Given the description of an element on the screen output the (x, y) to click on. 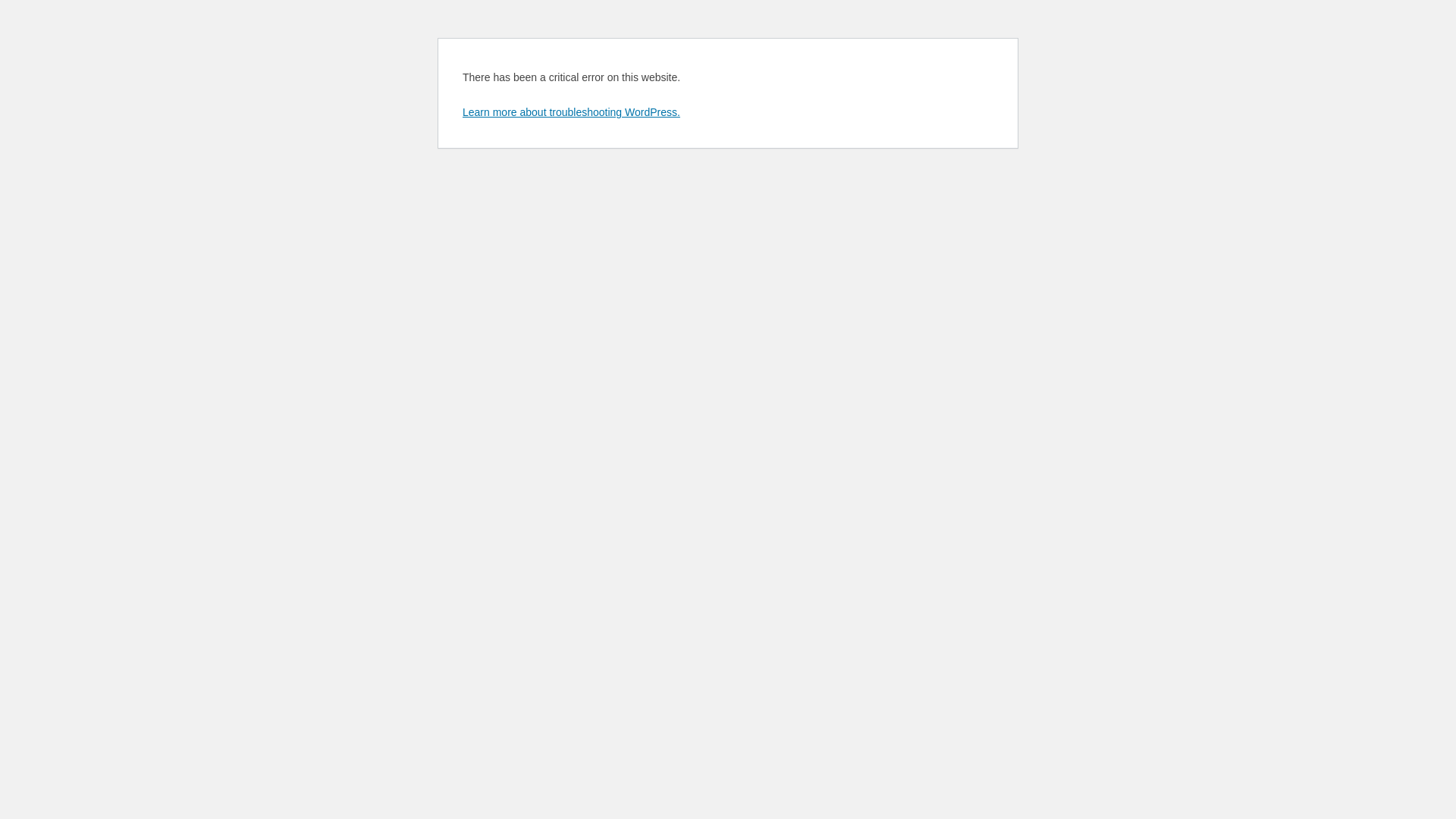
Learn more about troubleshooting WordPress. Element type: text (571, 112)
